Given the description of an element on the screen output the (x, y) to click on. 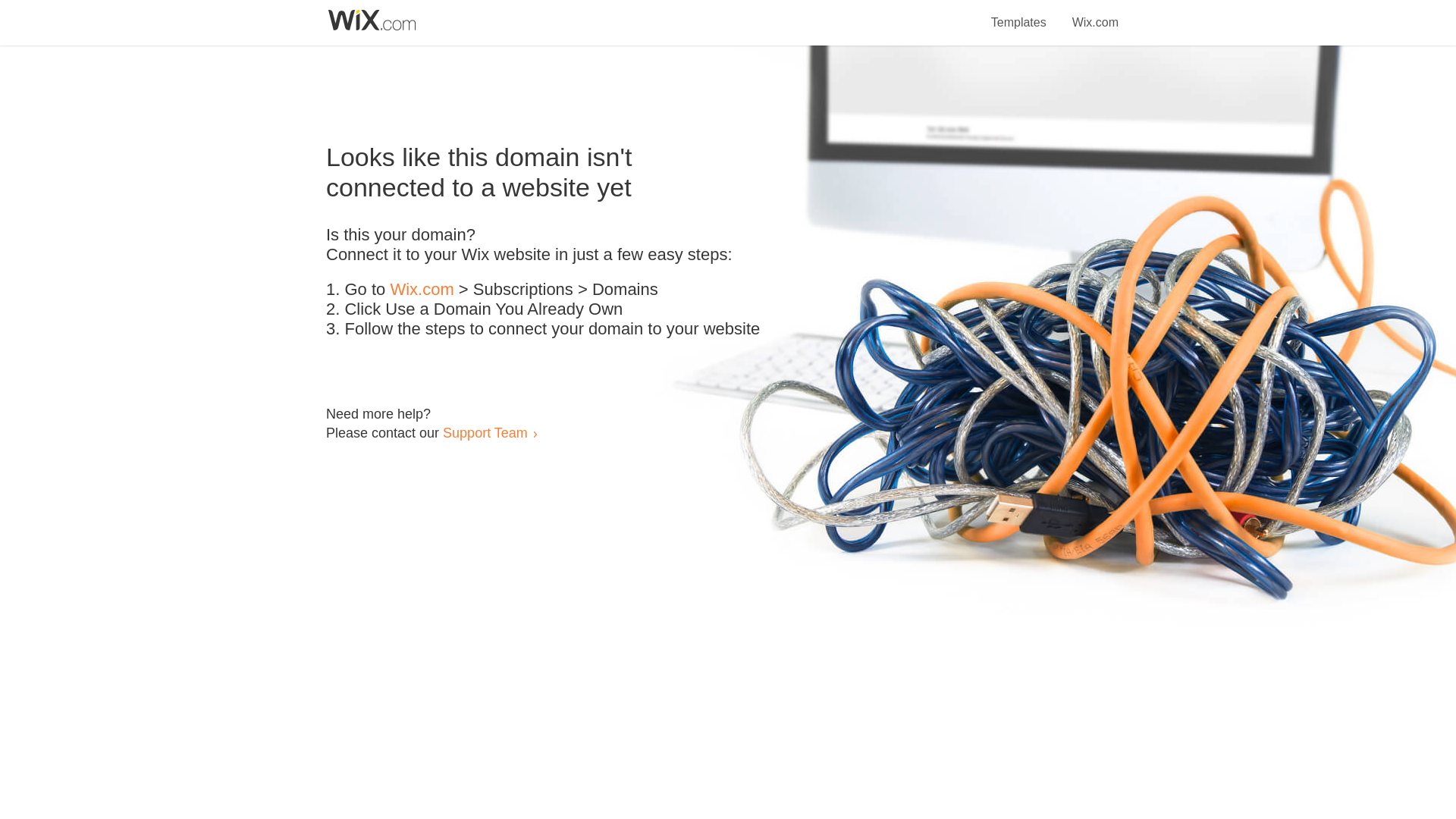
Wix.com (1095, 14)
Support Team (484, 432)
Wix.com (421, 289)
Templates (1018, 14)
